Given the description of an element on the screen output the (x, y) to click on. 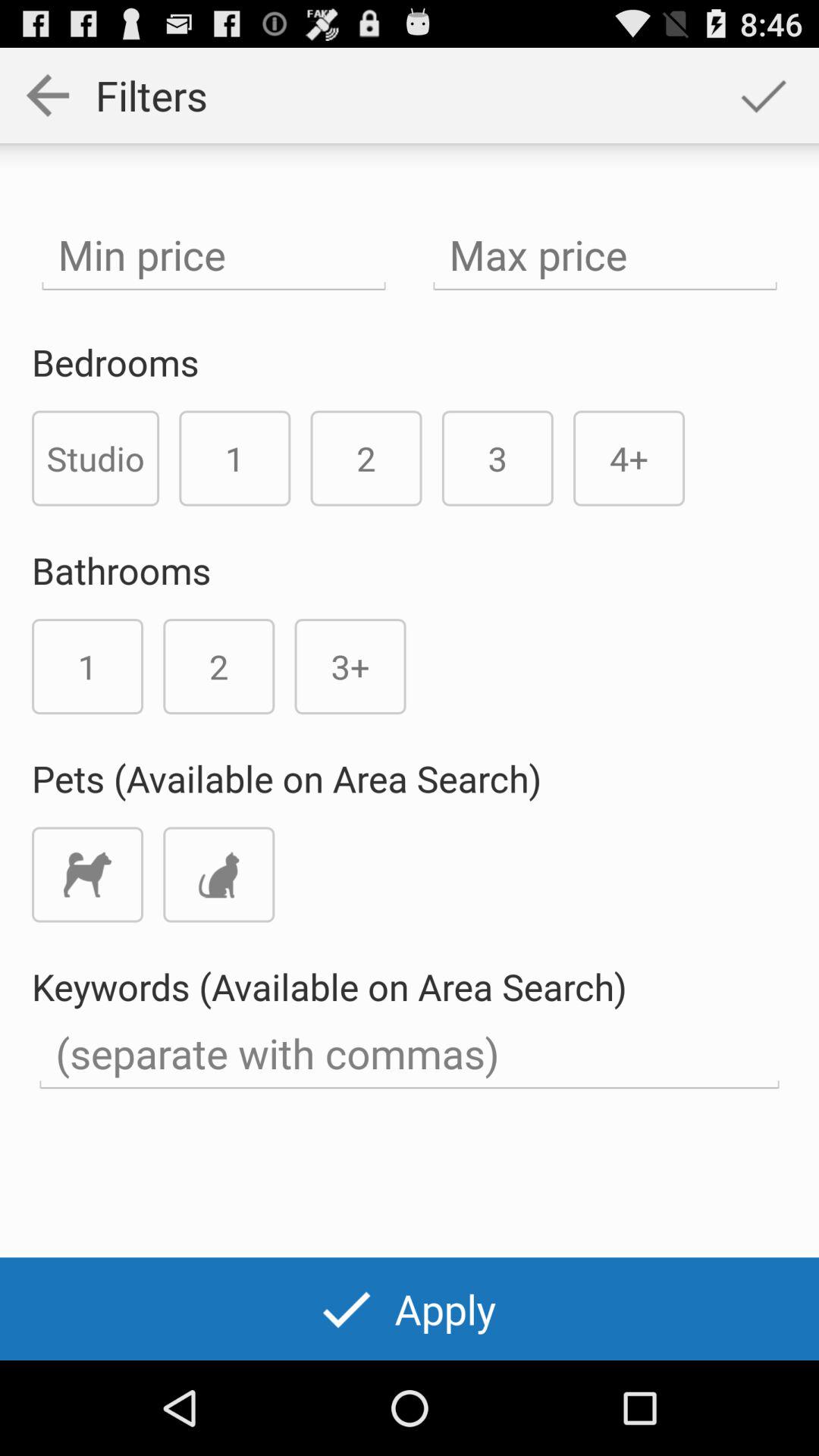
launch the icon next to 3 icon (628, 458)
